Given the description of an element on the screen output the (x, y) to click on. 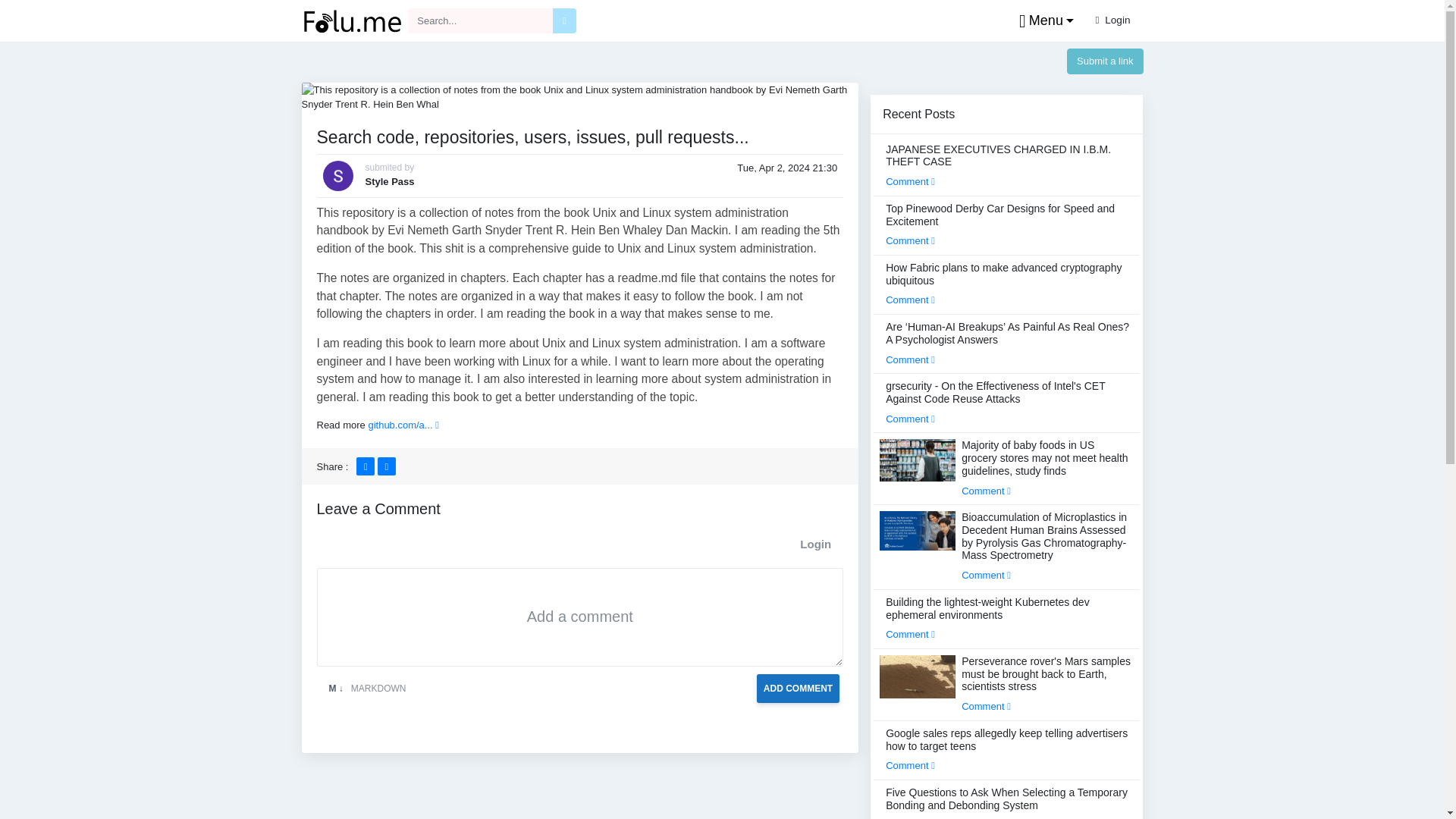
Menu (1043, 20)
ADD COMMENT (798, 687)
Search code, repositories, users, issues, pull requests... (580, 96)
Advertisement (580, 791)
Submit a link (1104, 61)
